Given the description of an element on the screen output the (x, y) to click on. 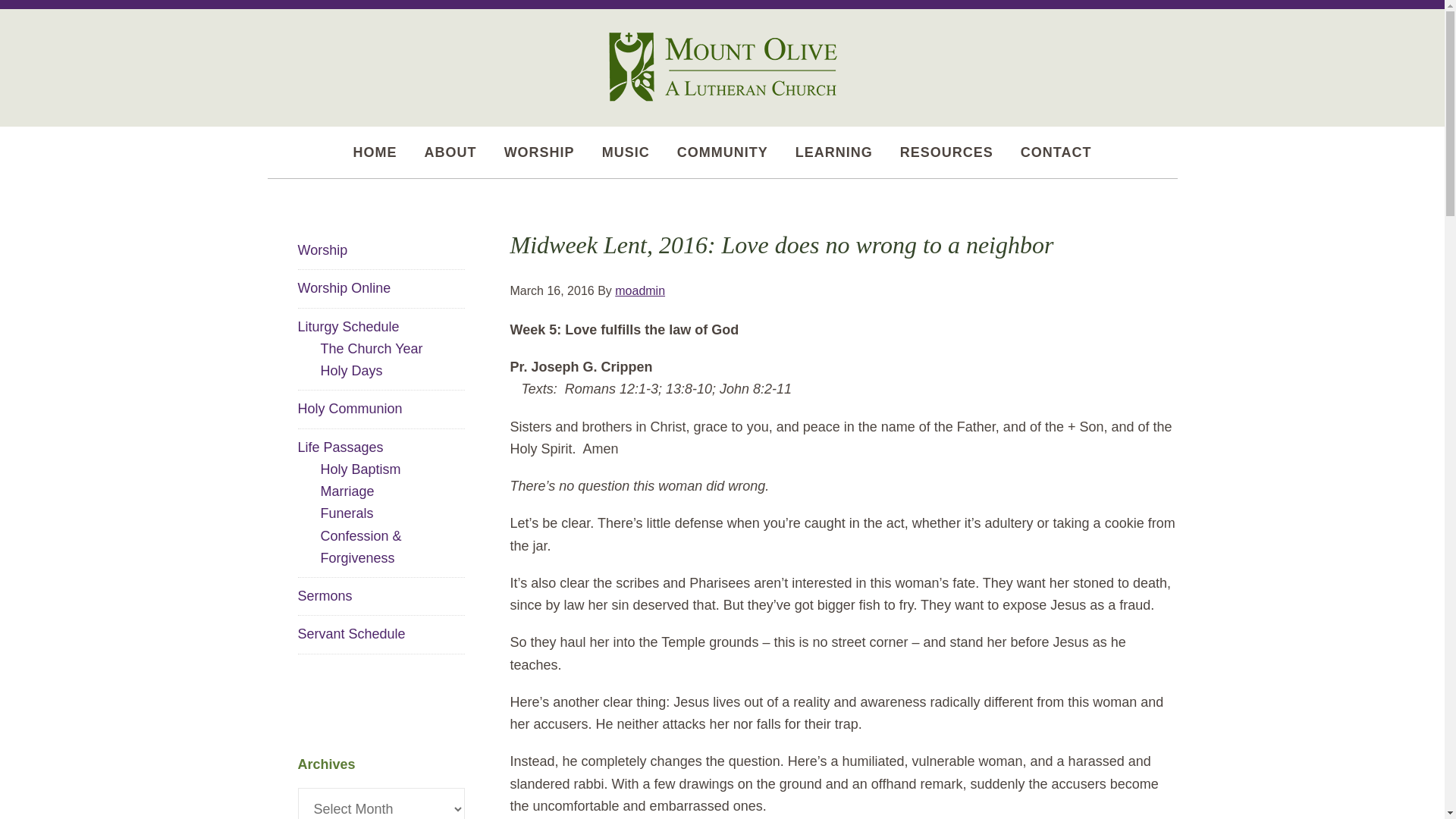
MUSIC (626, 152)
COMMUNITY (721, 152)
Mount Olive Lutheran Church (721, 65)
LEARNING (833, 152)
ABOUT (450, 152)
WORSHIP (539, 152)
HOME (375, 152)
RESOURCES (946, 152)
